Given the description of an element on the screen output the (x, y) to click on. 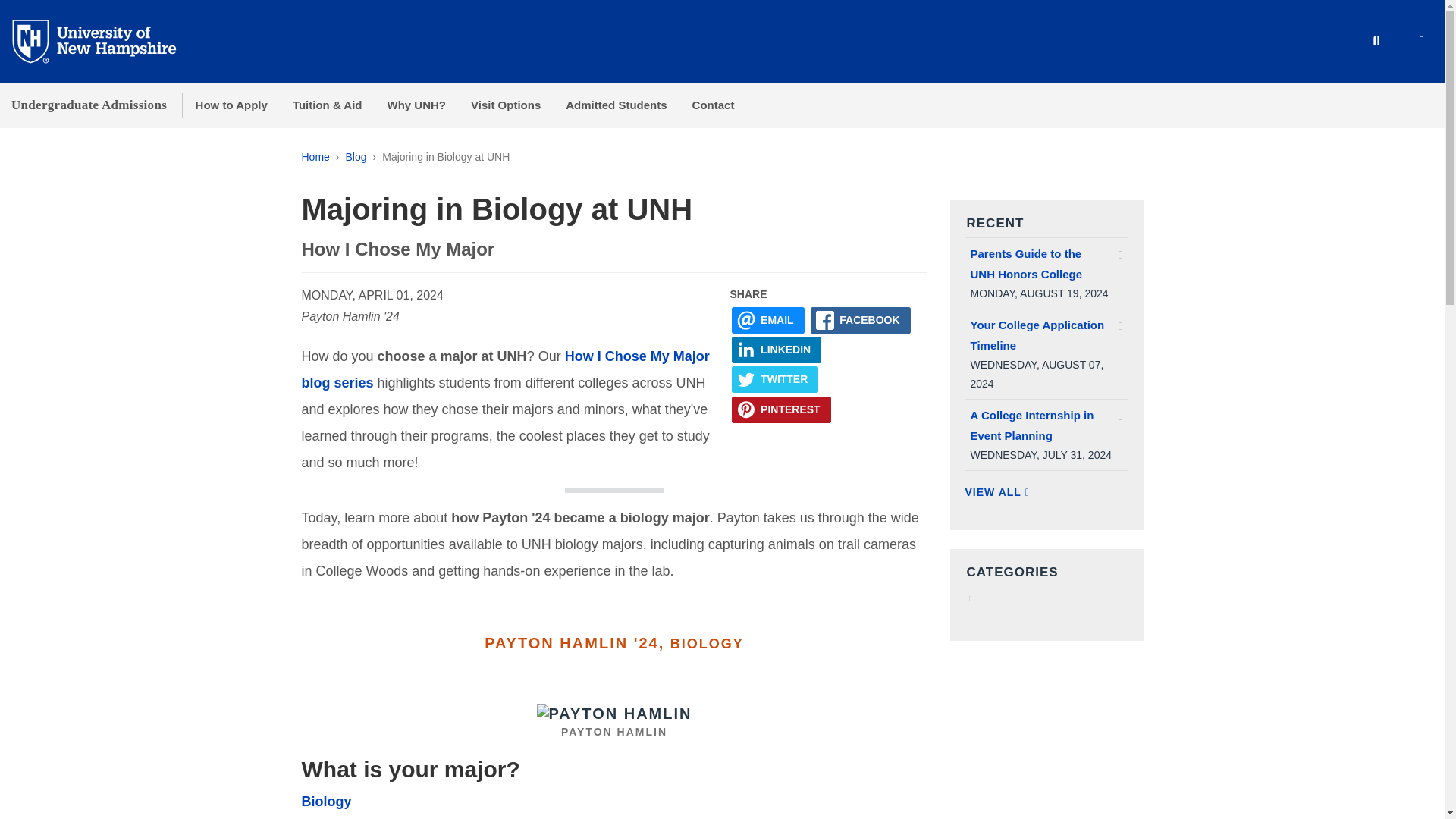
How to Apply (231, 104)
Visit Options (505, 104)
University of New Hampshire (105, 40)
Why UNH? (416, 104)
Undergraduate Admissions (89, 104)
